Given the description of an element on the screen output the (x, y) to click on. 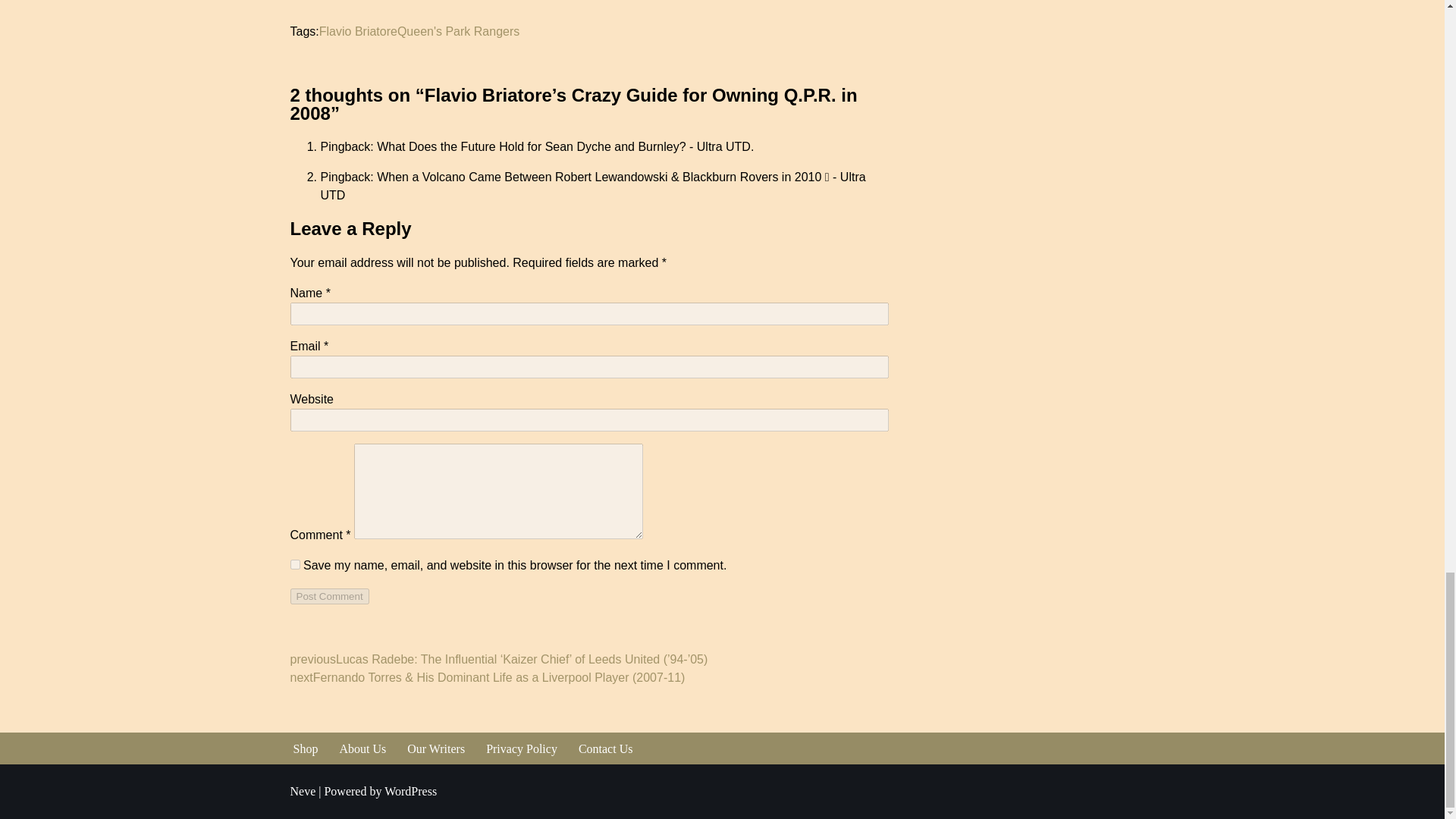
Queen's Park Rangers (458, 31)
Flavio Briatore (357, 31)
yes (294, 564)
Post Comment (328, 596)
